Given the description of an element on the screen output the (x, y) to click on. 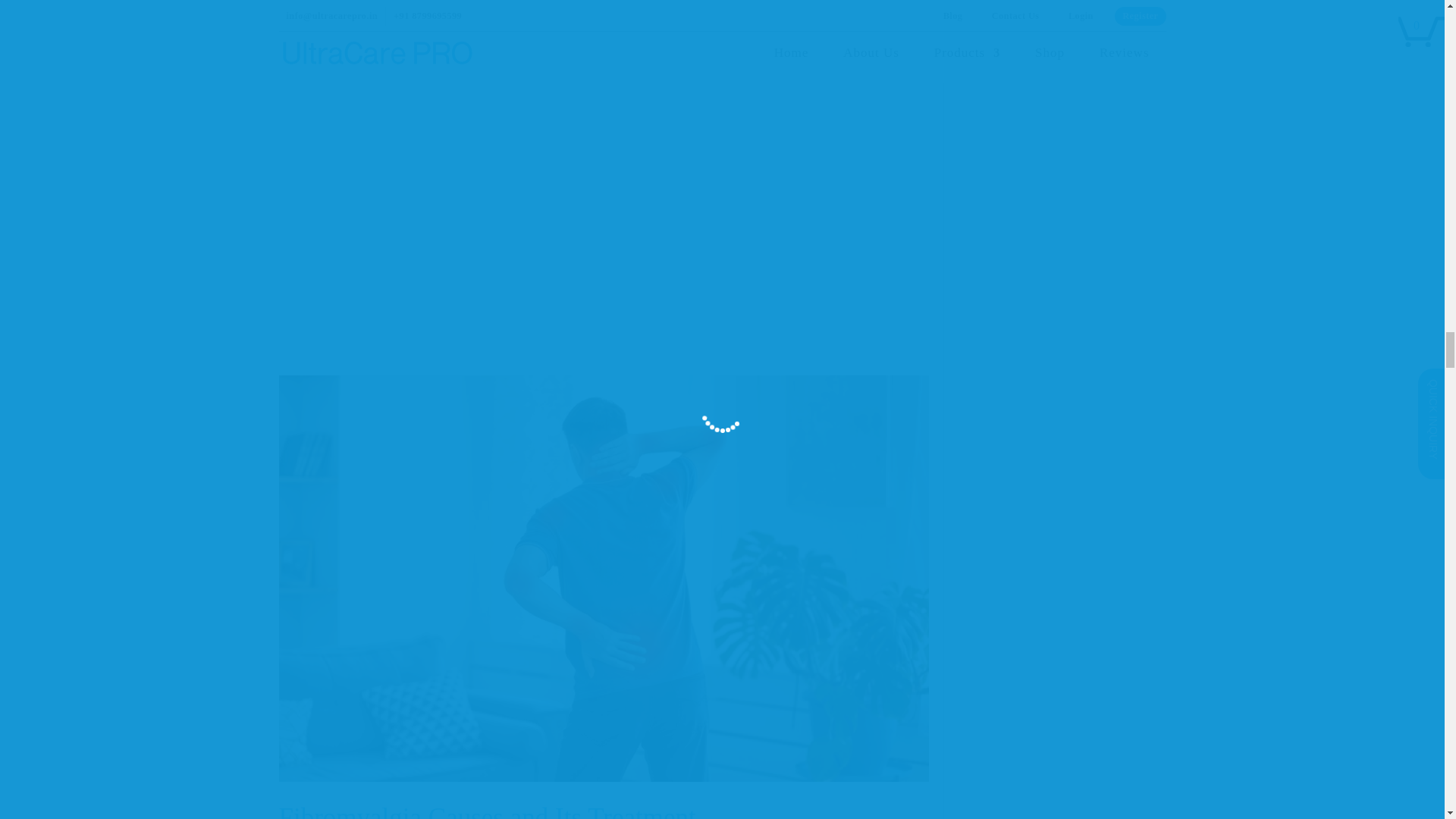
Click here (604, 165)
